Given the description of an element on the screen output the (x, y) to click on. 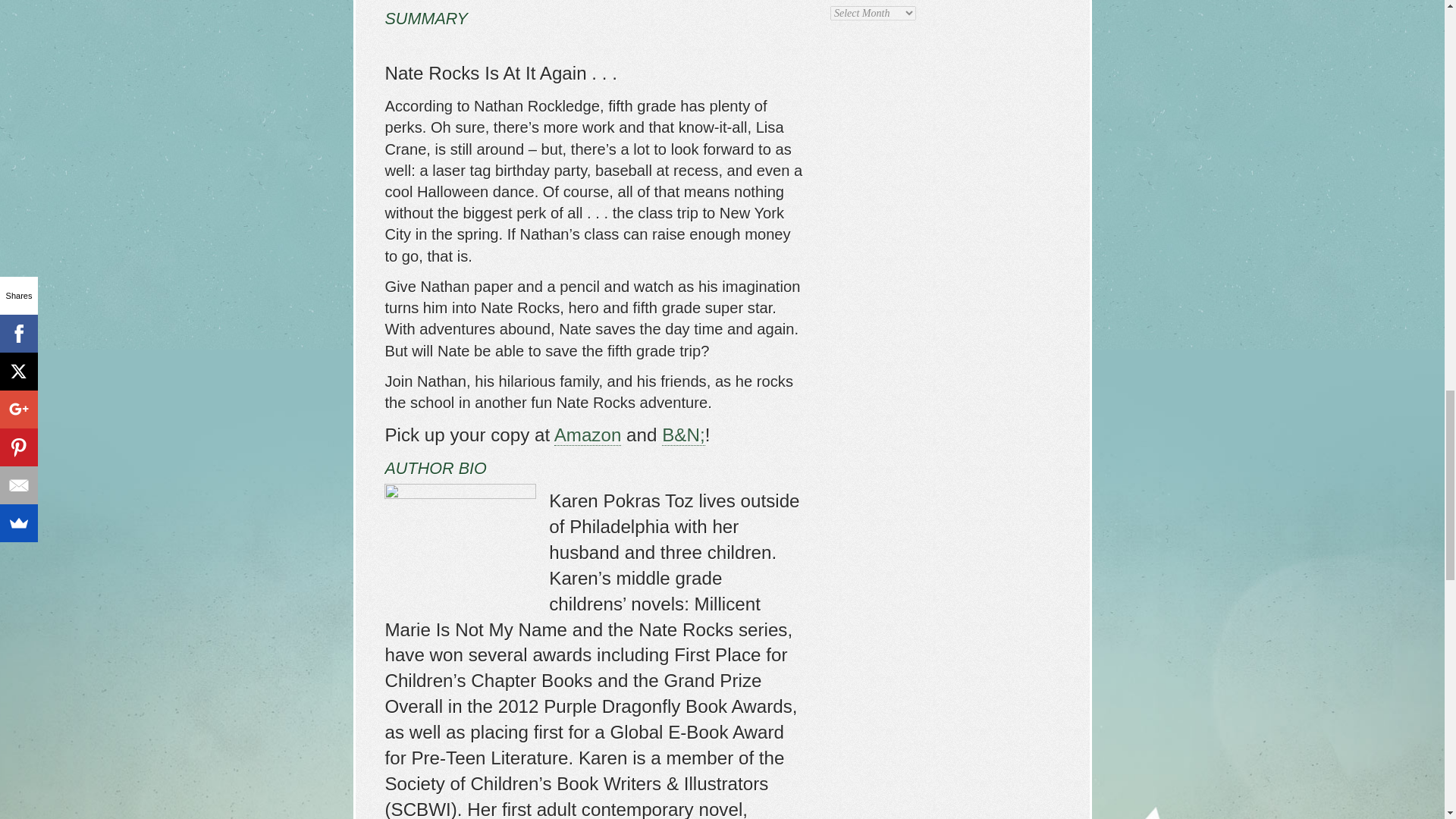
Amazon (587, 435)
